Given the description of an element on the screen output the (x, y) to click on. 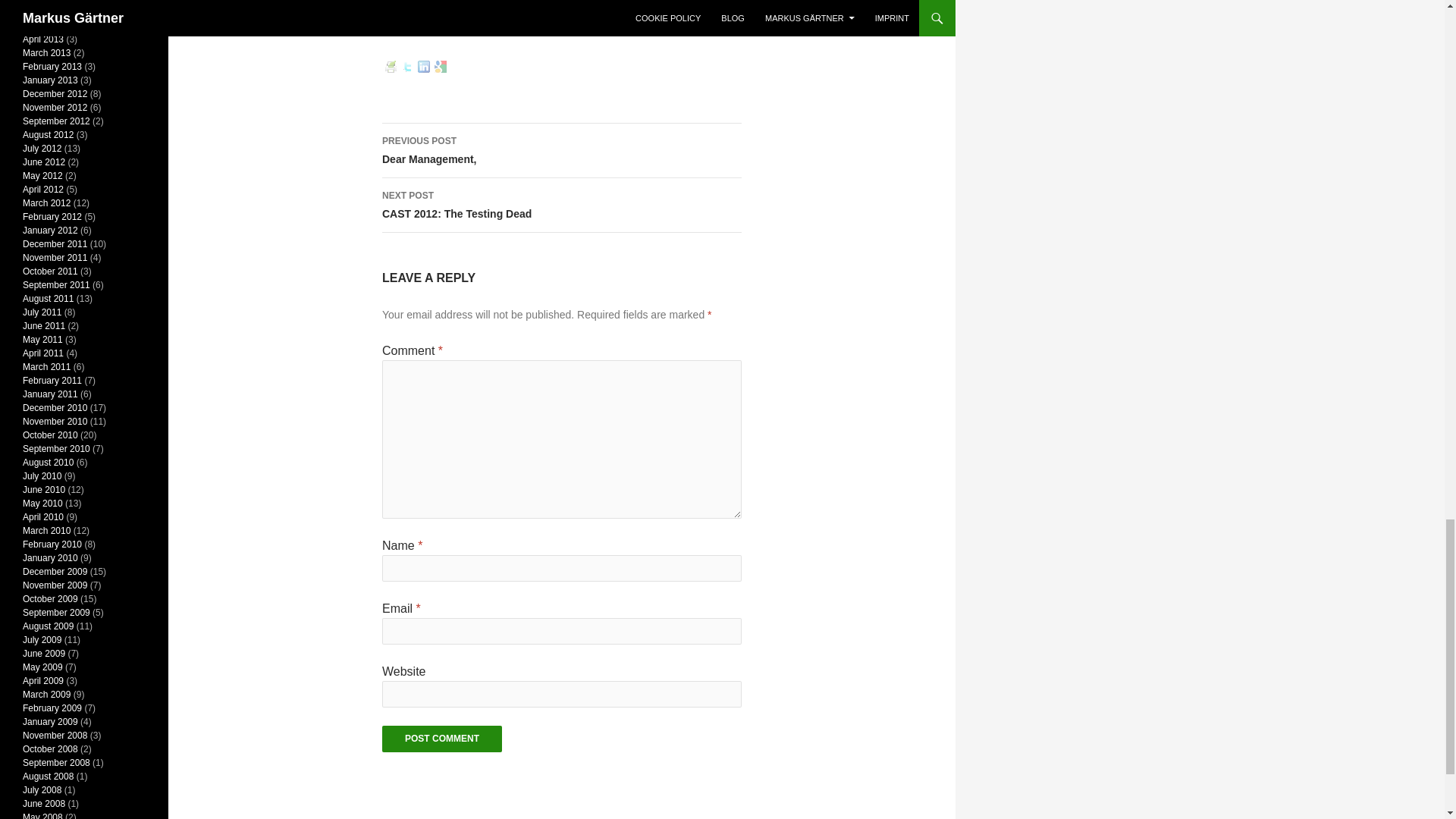
Twitter (406, 66)
Print (389, 66)
LinkedIn (561, 150)
Google Bookmarks (423, 66)
Post Comment (440, 66)
Post Comment (561, 205)
